Given the description of an element on the screen output the (x, y) to click on. 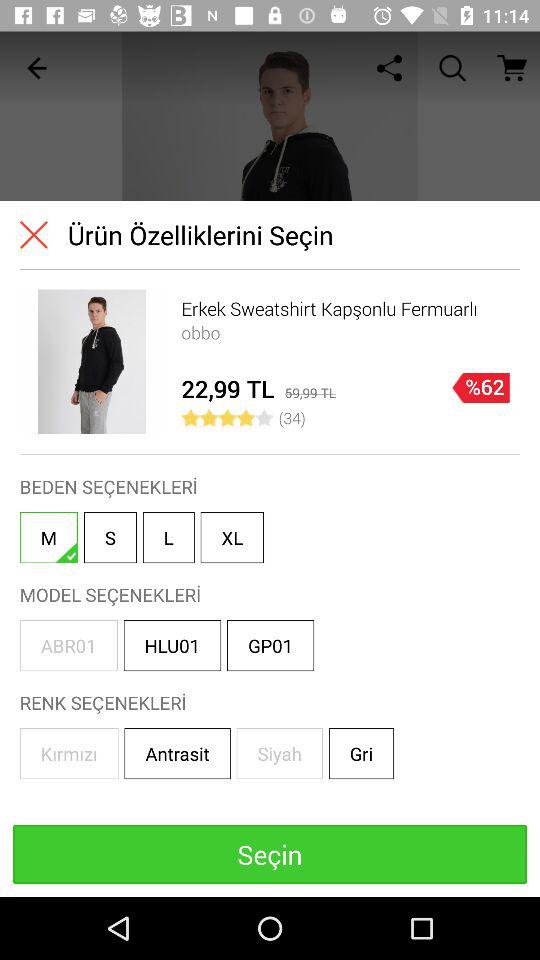
tap the item to the left of gp01 item (172, 645)
